Given the description of an element on the screen output the (x, y) to click on. 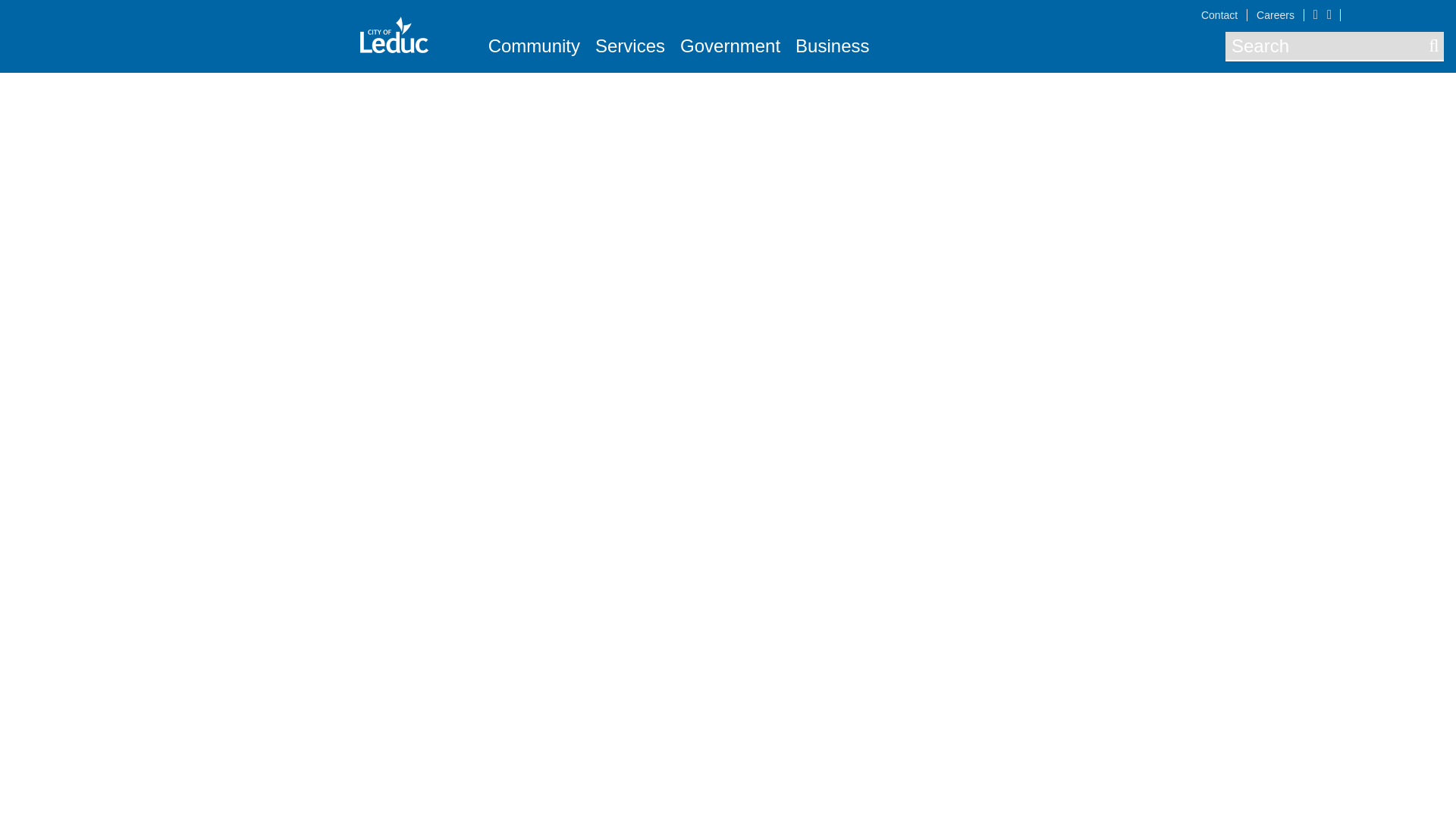
Business (831, 45)
City of Leduc Home (393, 33)
Services (630, 45)
City of Leduc Home (393, 34)
Government (729, 45)
Community (533, 45)
